Given the description of an element on the screen output the (x, y) to click on. 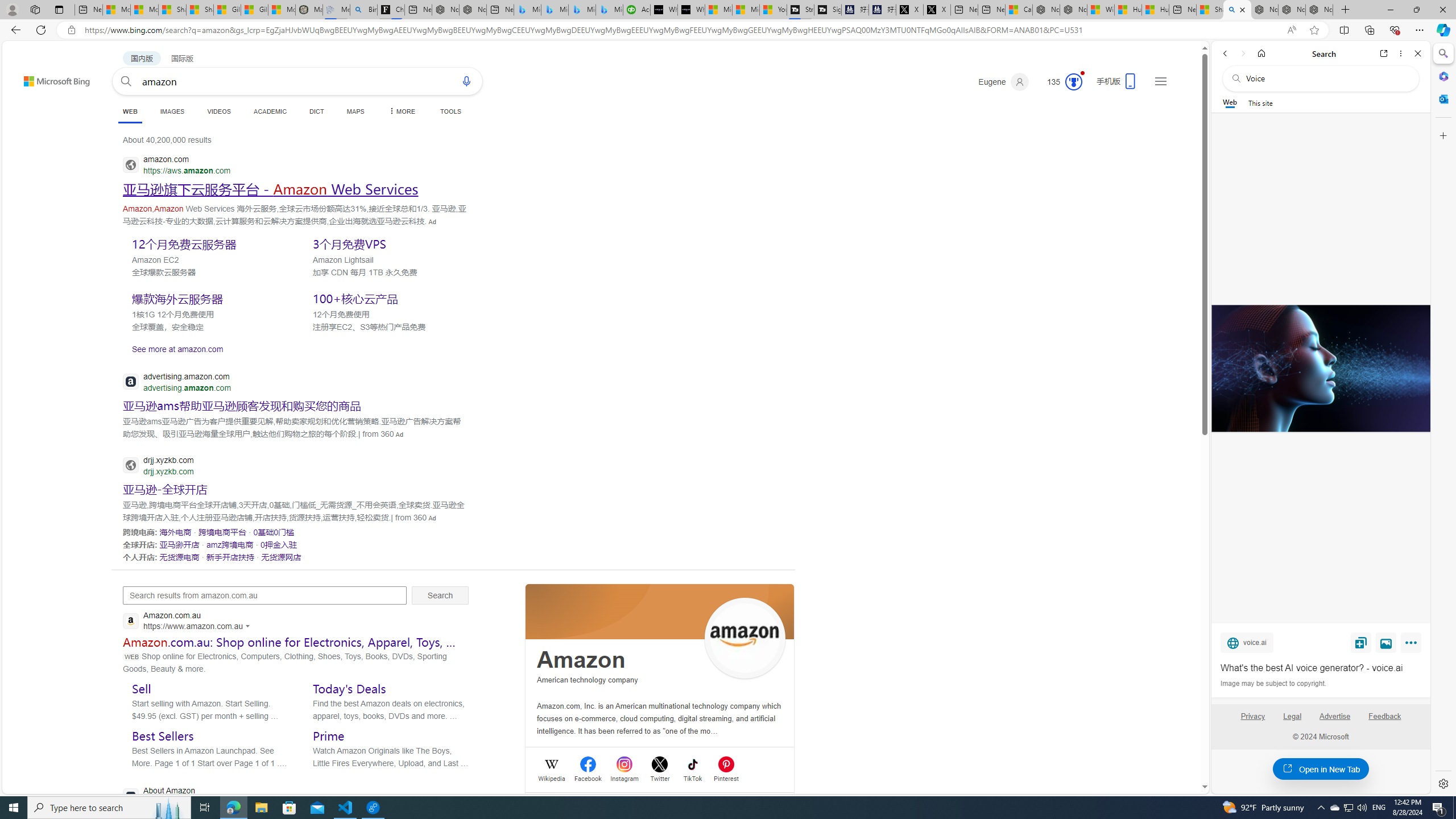
IMAGES (172, 111)
Shanghai, China hourly forecast | Microsoft Weather (1209, 9)
Search more (1179, 753)
Prime (329, 735)
Global web icon (130, 795)
Back to Bing search (50, 78)
Today's Deals (349, 688)
Eugene (1003, 81)
Gilma and Hector both pose tropical trouble for Hawaii (254, 9)
Add this page to favorites (Ctrl+D) (1314, 29)
SERP,5567 (222, 532)
Search results from amazon.com.au (264, 594)
